Given the description of an element on the screen output the (x, y) to click on. 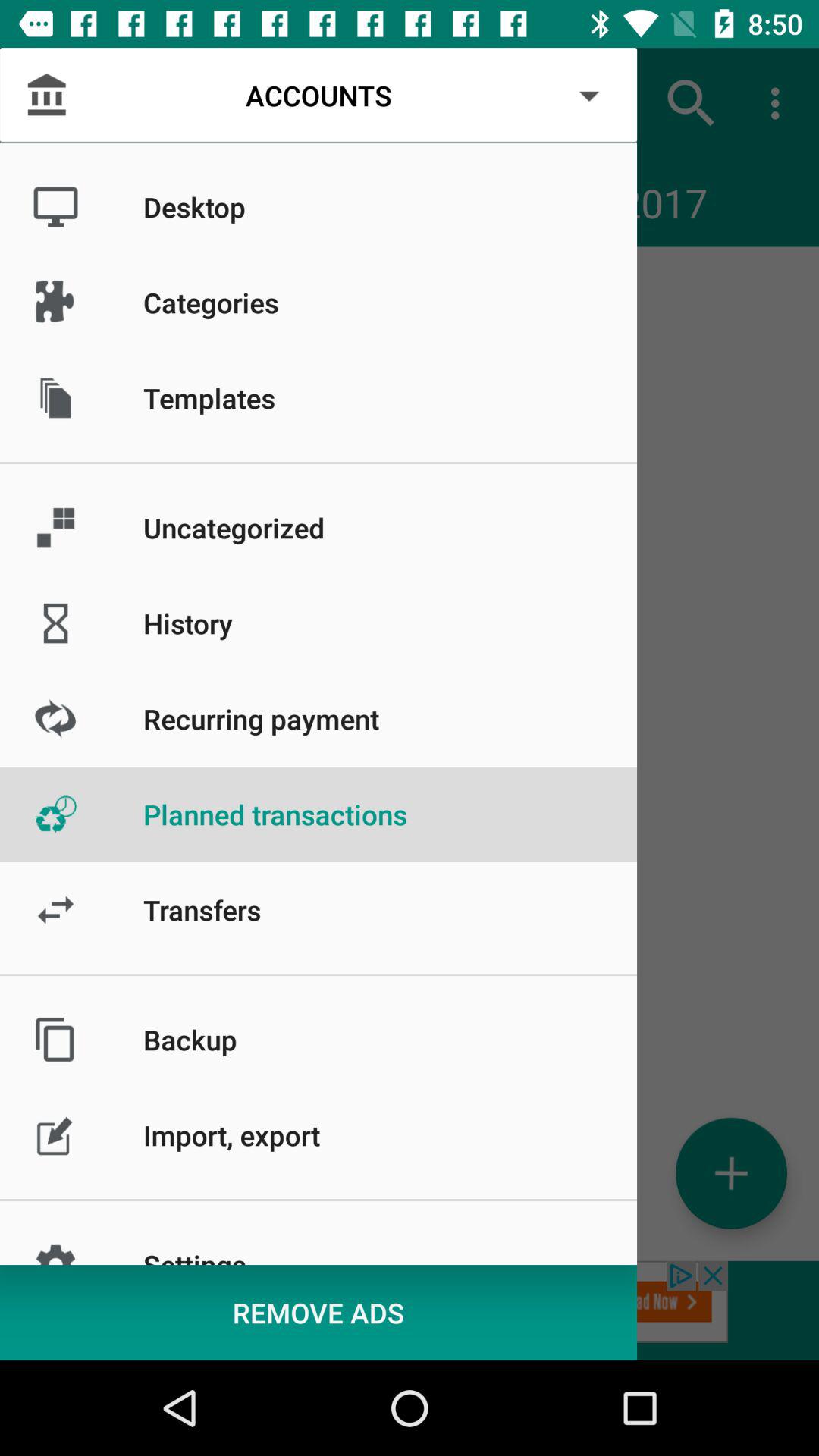
click the item at the bottom right corner (731, 1173)
